Given the description of an element on the screen output the (x, y) to click on. 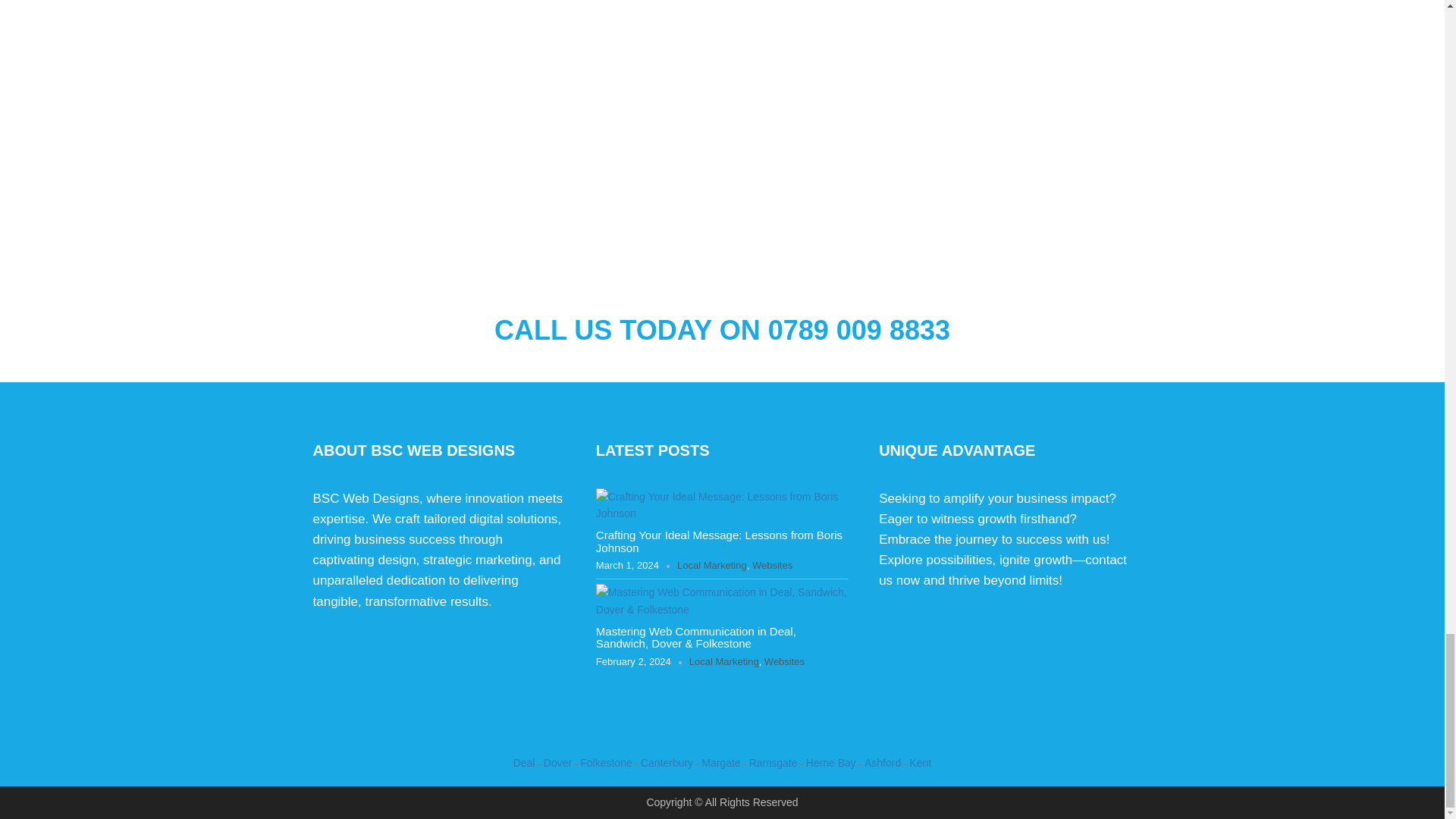
Herne Bay (831, 762)
Kent (919, 762)
Websites (772, 565)
Websites (784, 662)
Crafting Your Ideal Message: Lessons from Boris Johnson (719, 541)
Crafting Your Ideal Message: Lessons from Boris Johnson (719, 541)
Margate (720, 762)
Folkestone (605, 762)
Local Marketing (723, 662)
Ashford (882, 762)
Ramsgate (773, 762)
Dover (557, 762)
Canterbury (666, 762)
Deal (524, 762)
Crafting Your Ideal Message: Lessons from Boris Johnson (721, 503)
